Given the description of an element on the screen output the (x, y) to click on. 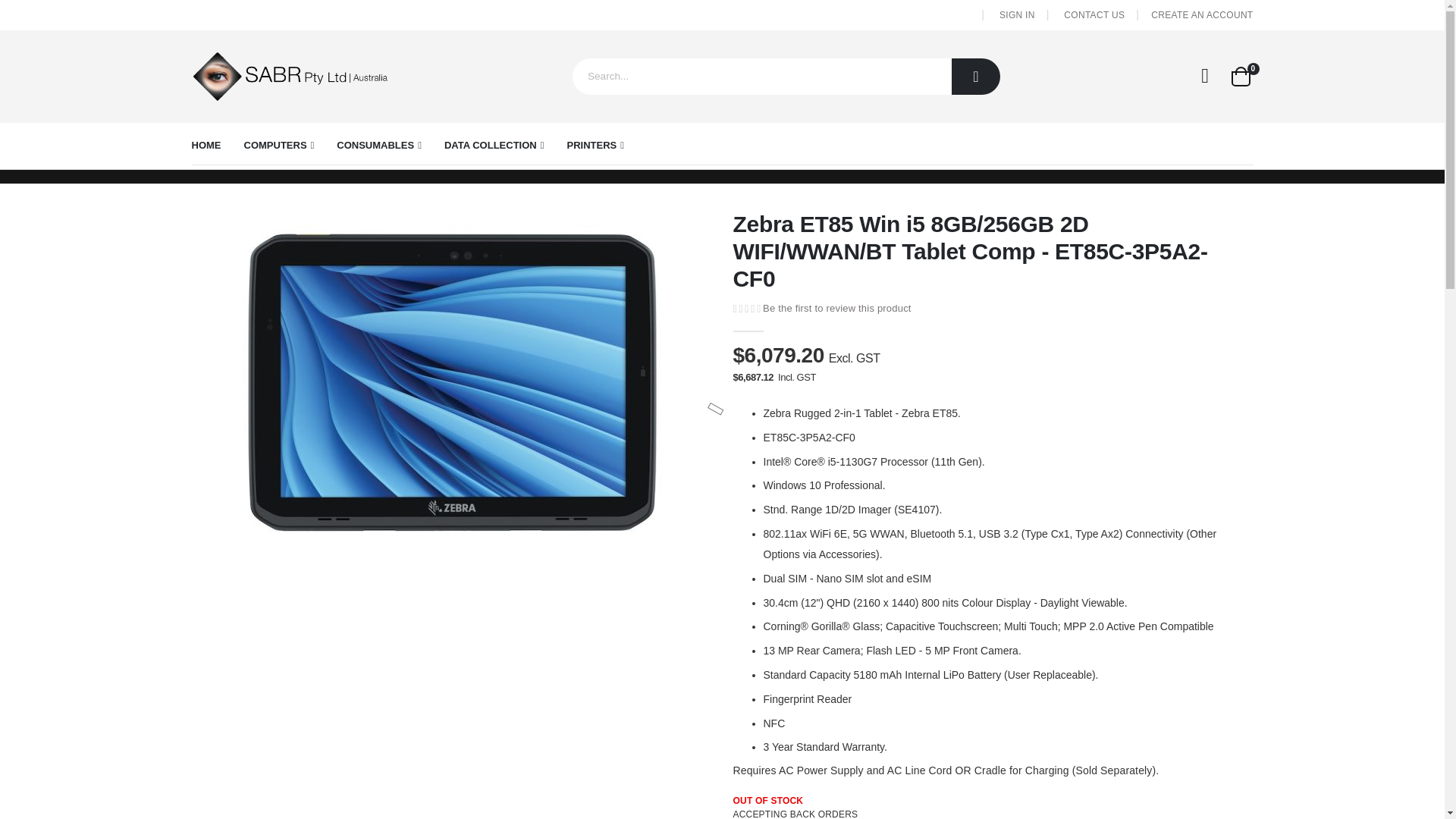
CREATE AN ACCOUNT (1201, 14)
Search (976, 76)
COMPUTERS (279, 145)
SIGN IN (1240, 76)
SABR Logo (1016, 14)
My Account (289, 76)
CONTACT US (1205, 76)
Computers (1094, 14)
CONSUMABLES (279, 145)
